Given the description of an element on the screen output the (x, y) to click on. 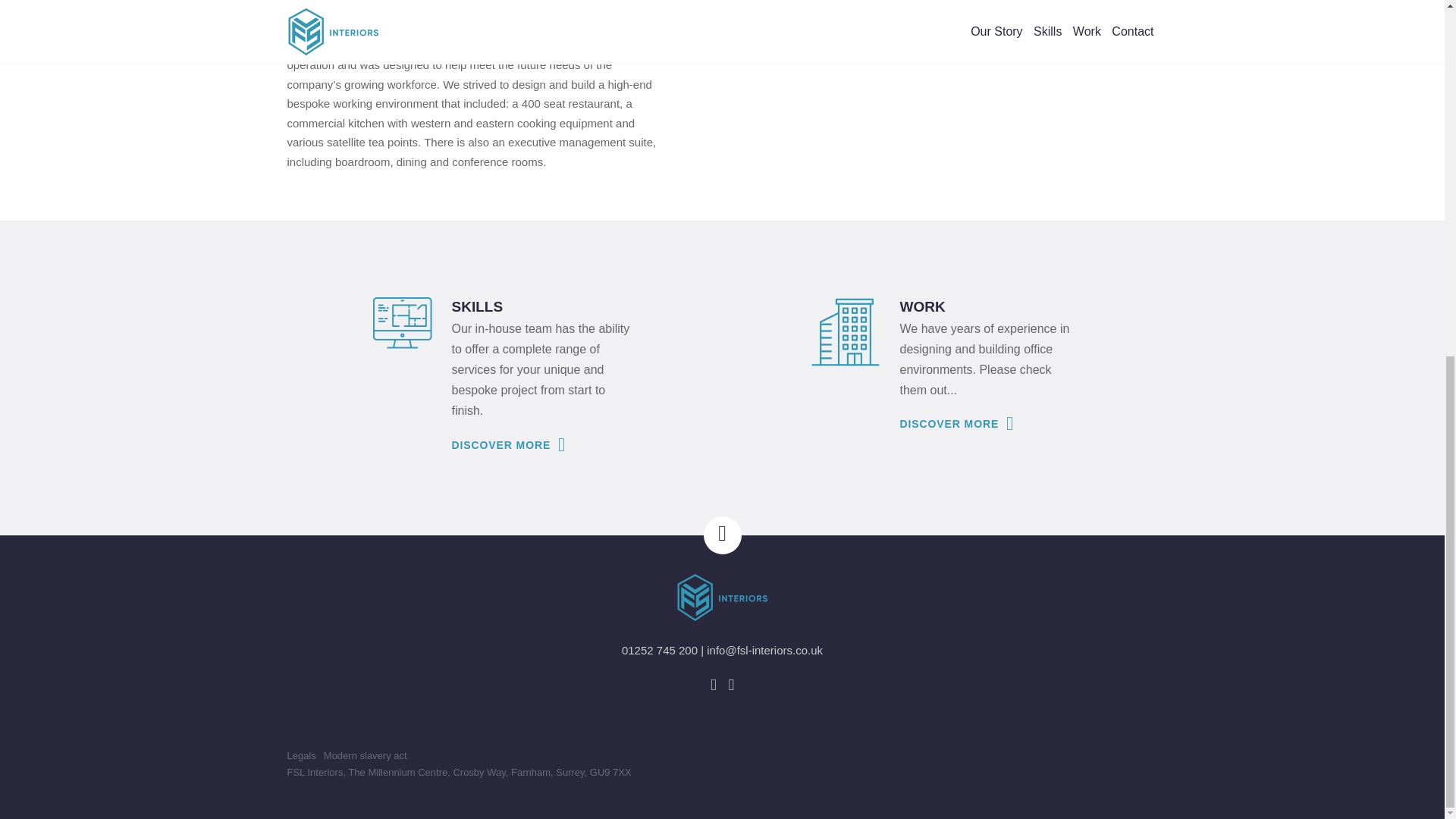
Modern slavery act (365, 755)
01252 745 200 (659, 649)
Legals (300, 755)
DISCOVER MORE (506, 444)
DISCOVER MORE (954, 423)
